Given the description of an element on the screen output the (x, y) to click on. 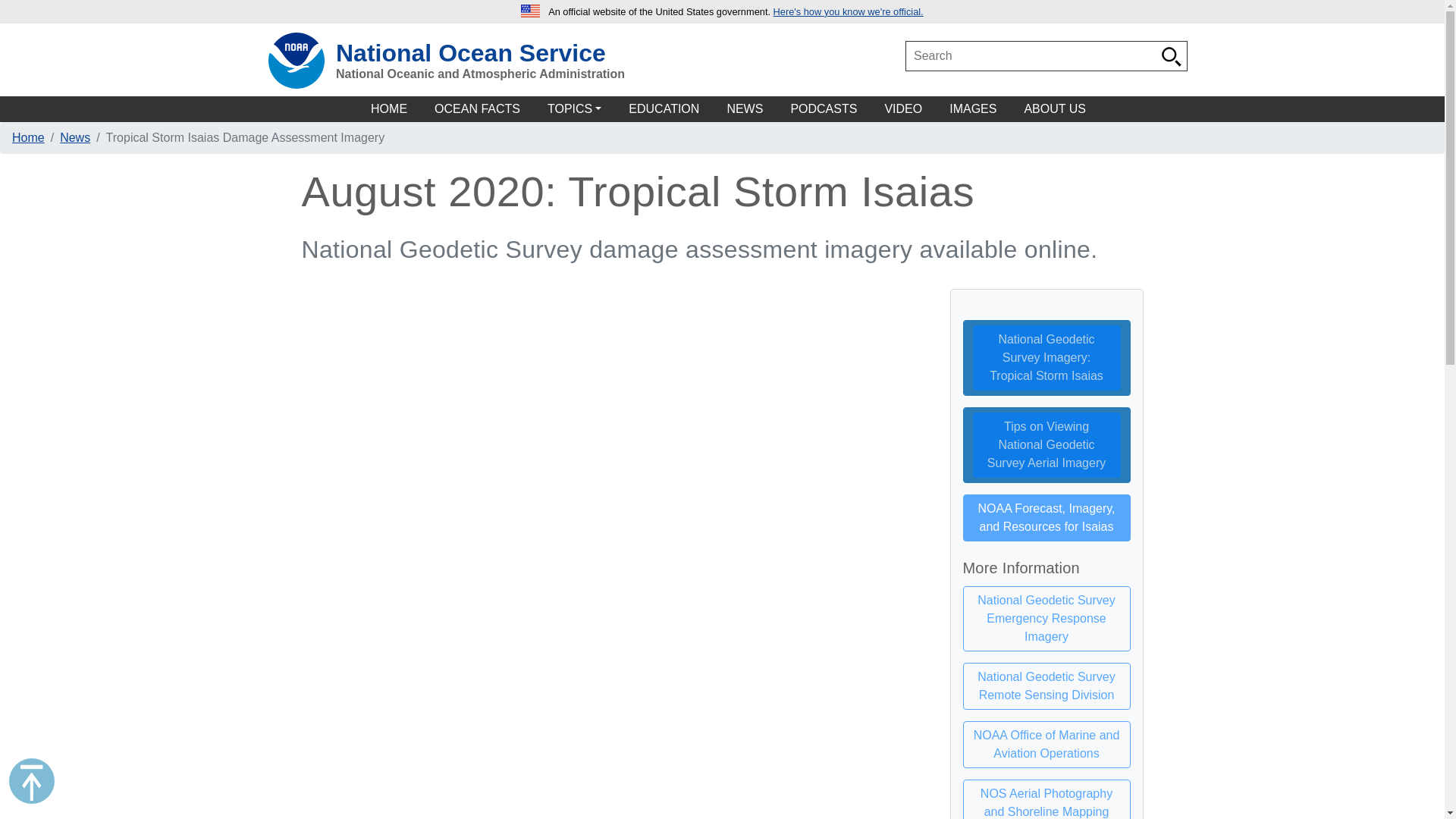
ABOUT US (1054, 109)
TOPICS (574, 109)
VIDEO (902, 109)
Home (28, 137)
News (74, 137)
Search National Ocean Service (1172, 56)
National Oceanic and Atmospheric Administration (446, 73)
IMAGES (973, 109)
HOME (389, 109)
Here's how you know we're official. (848, 11)
